Given the description of an element on the screen output the (x, y) to click on. 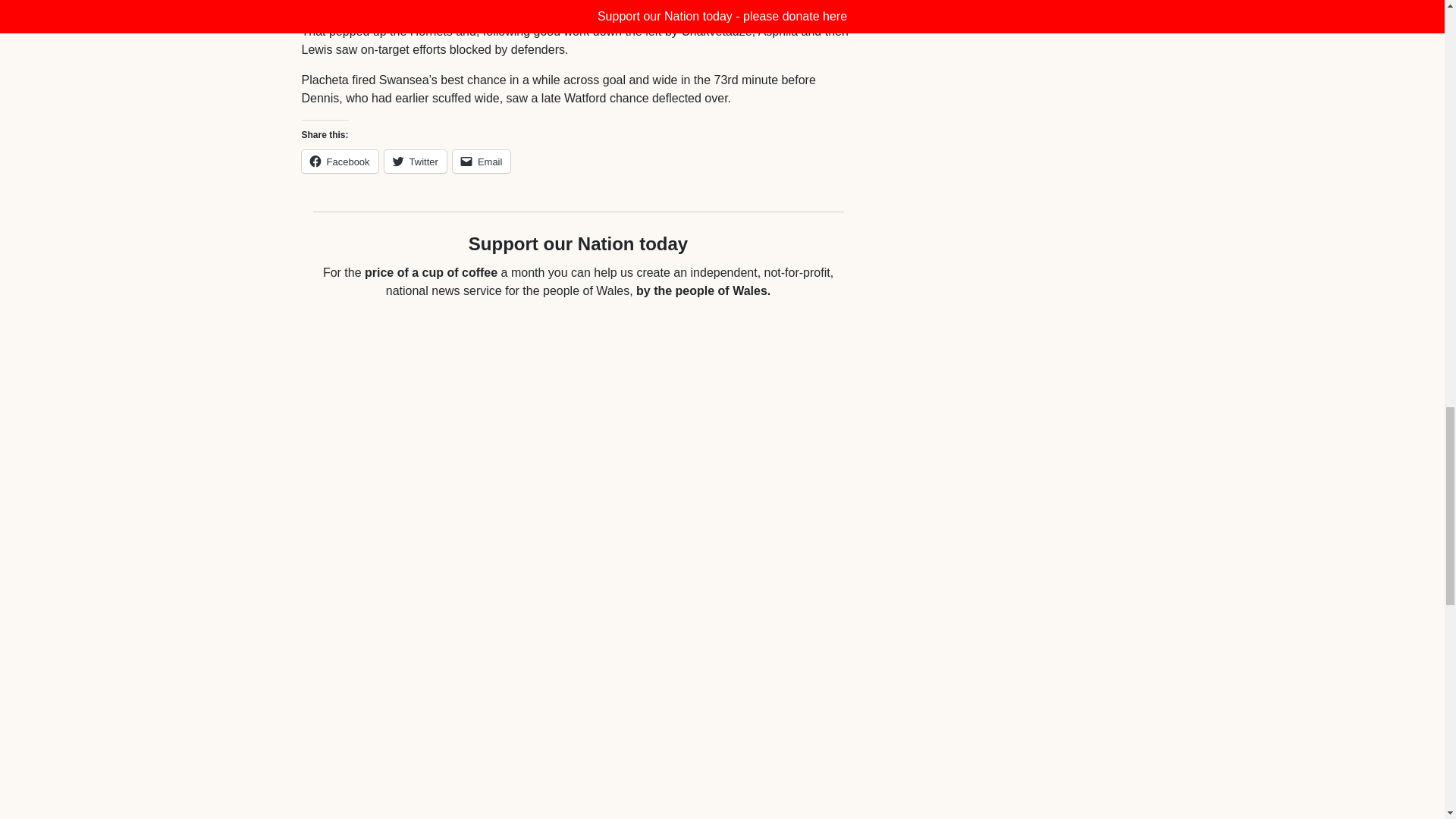
Twitter (415, 160)
Click to email a link to a friend (481, 160)
Click to share on Twitter (415, 160)
Email (481, 160)
Click to share on Facebook (339, 160)
Facebook (339, 160)
